Given the description of an element on the screen output the (x, y) to click on. 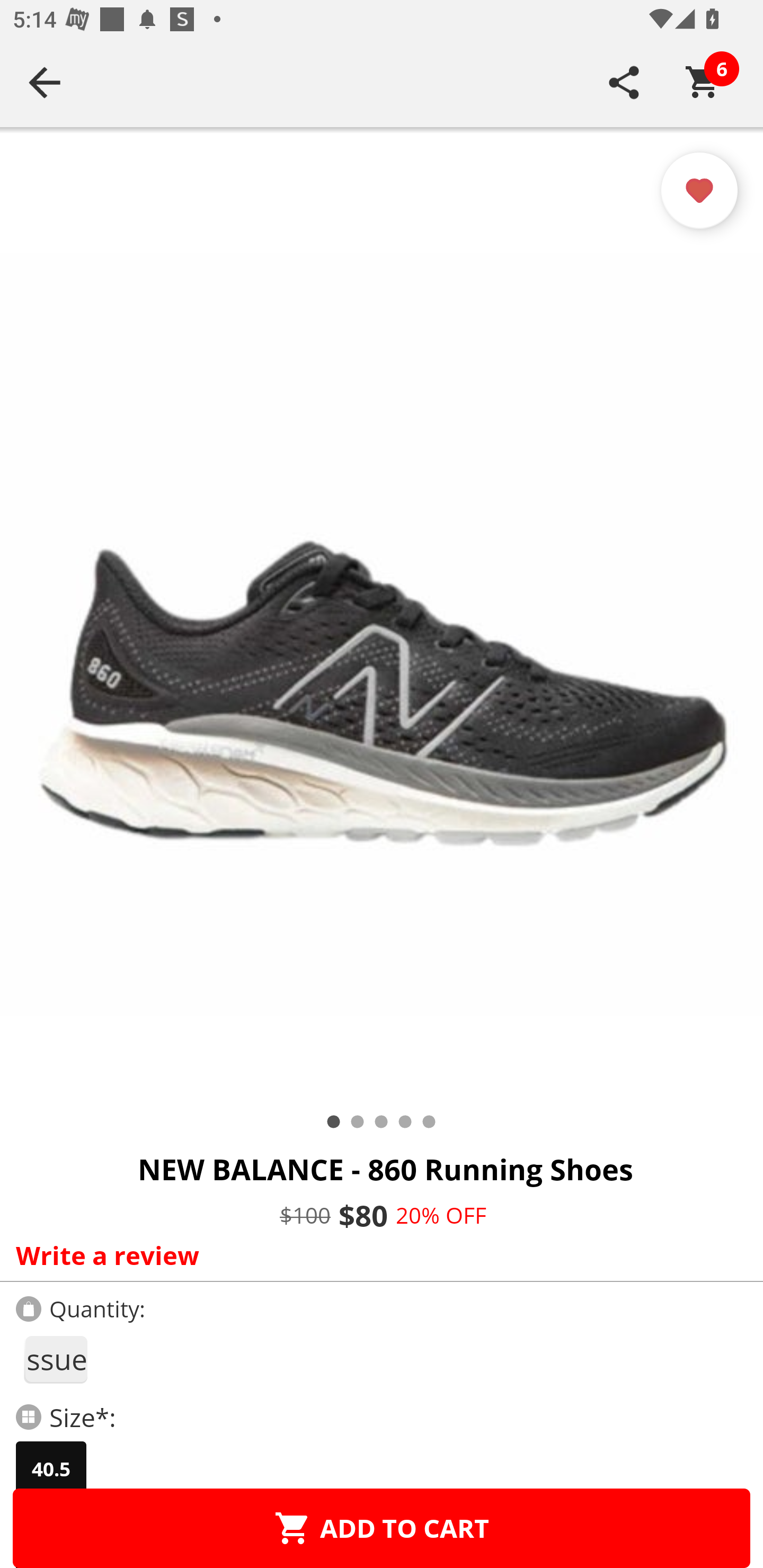
Navigate up (44, 82)
SHARE (623, 82)
Cart (703, 81)
Write a review (377, 1255)
1tissue (55, 1358)
40.5 (51, 1468)
ADD TO CART (381, 1528)
